Given the description of an element on the screen output the (x, y) to click on. 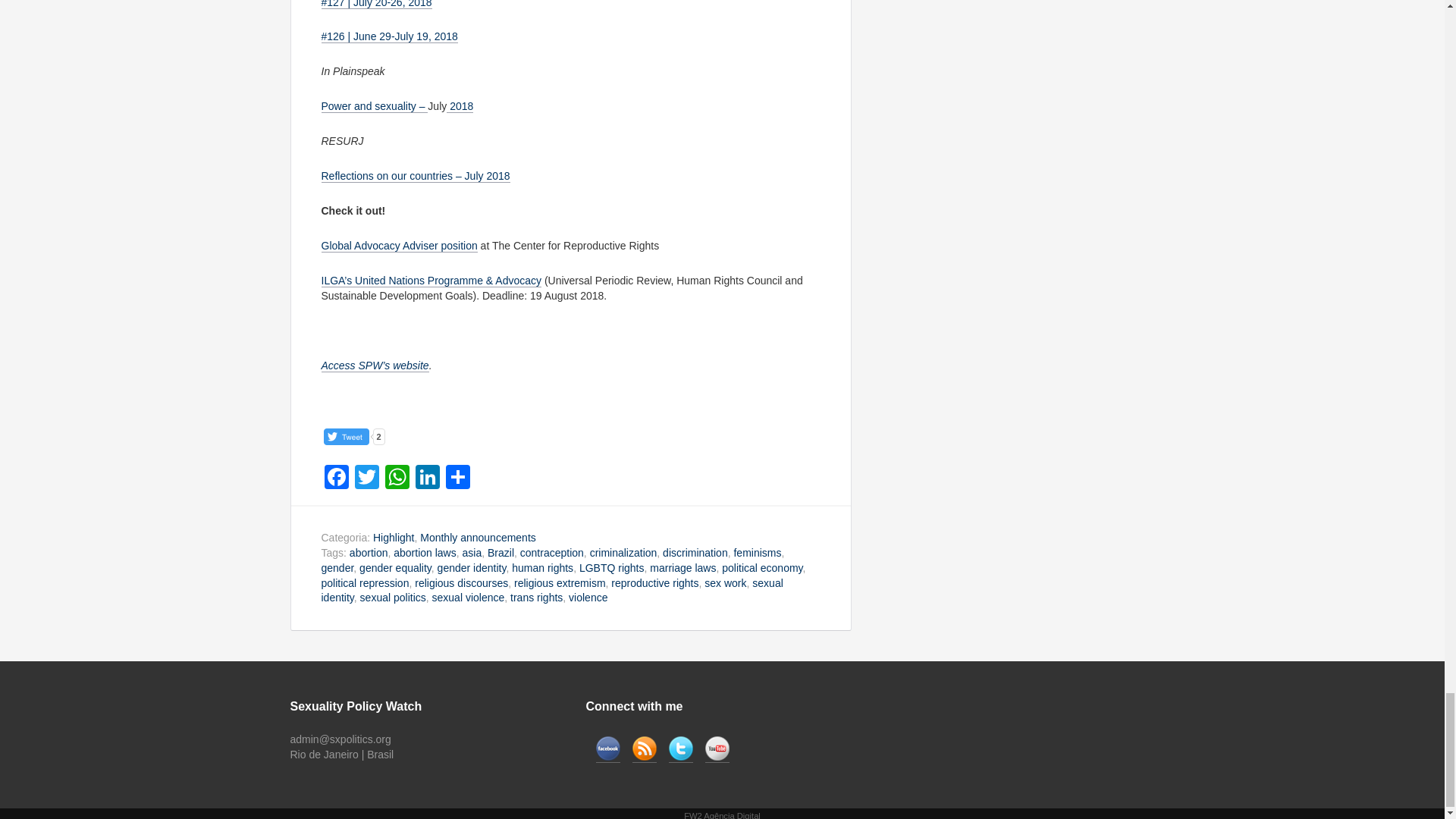
Link to my Twitter Page (680, 749)
Facebook (336, 479)
Link to my Youtube Page (716, 749)
Link to my Facebook Page (607, 749)
Twitter (366, 479)
Link to my Rss Page (643, 749)
LinkedIn (427, 479)
WhatsApp (396, 479)
